Given the description of an element on the screen output the (x, y) to click on. 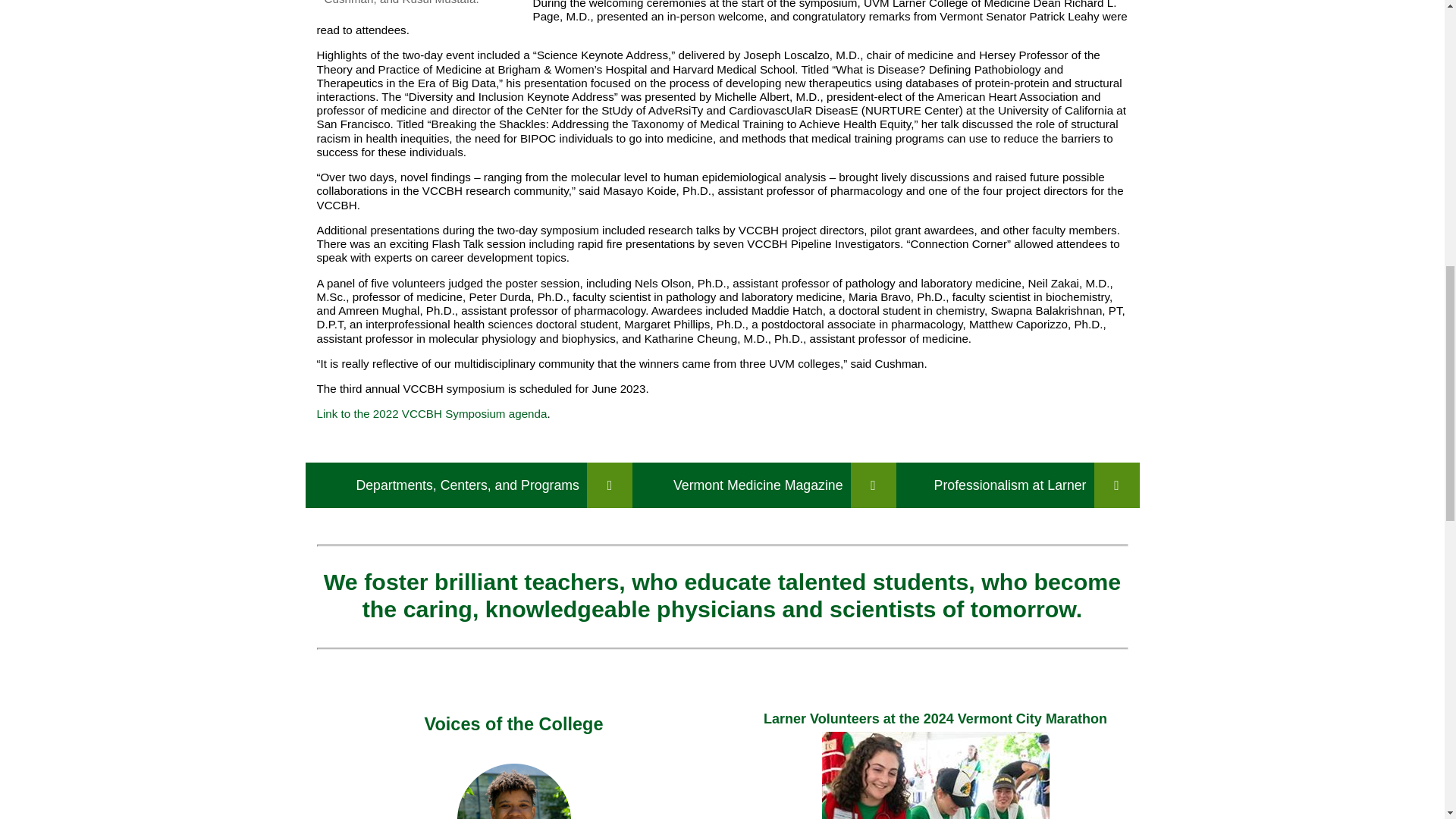
Evelyn Thomas (513, 791)
Larner Marathon Volunteers (935, 775)
